Given the description of an element on the screen output the (x, y) to click on. 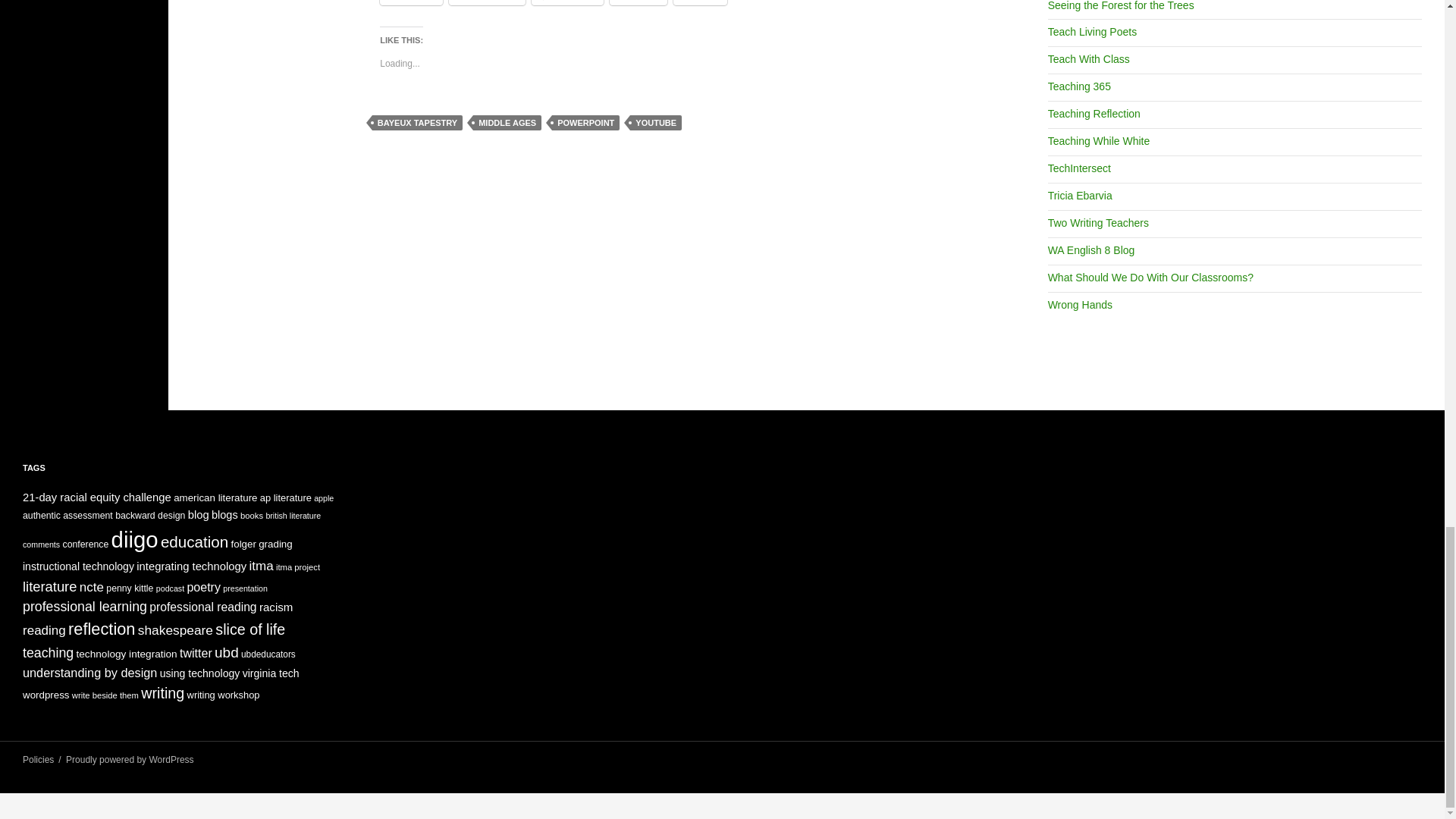
MIDDLE AGES (507, 122)
POWERPOINT (585, 122)
Twitter (411, 2)
Pinterest (567, 2)
Click to share on Twitter (411, 2)
YOUTUBE (655, 122)
BAYEUX TAPESTRY (417, 122)
Facebook (486, 2)
Click to print (699, 2)
Email (639, 2)
